Given the description of an element on the screen output the (x, y) to click on. 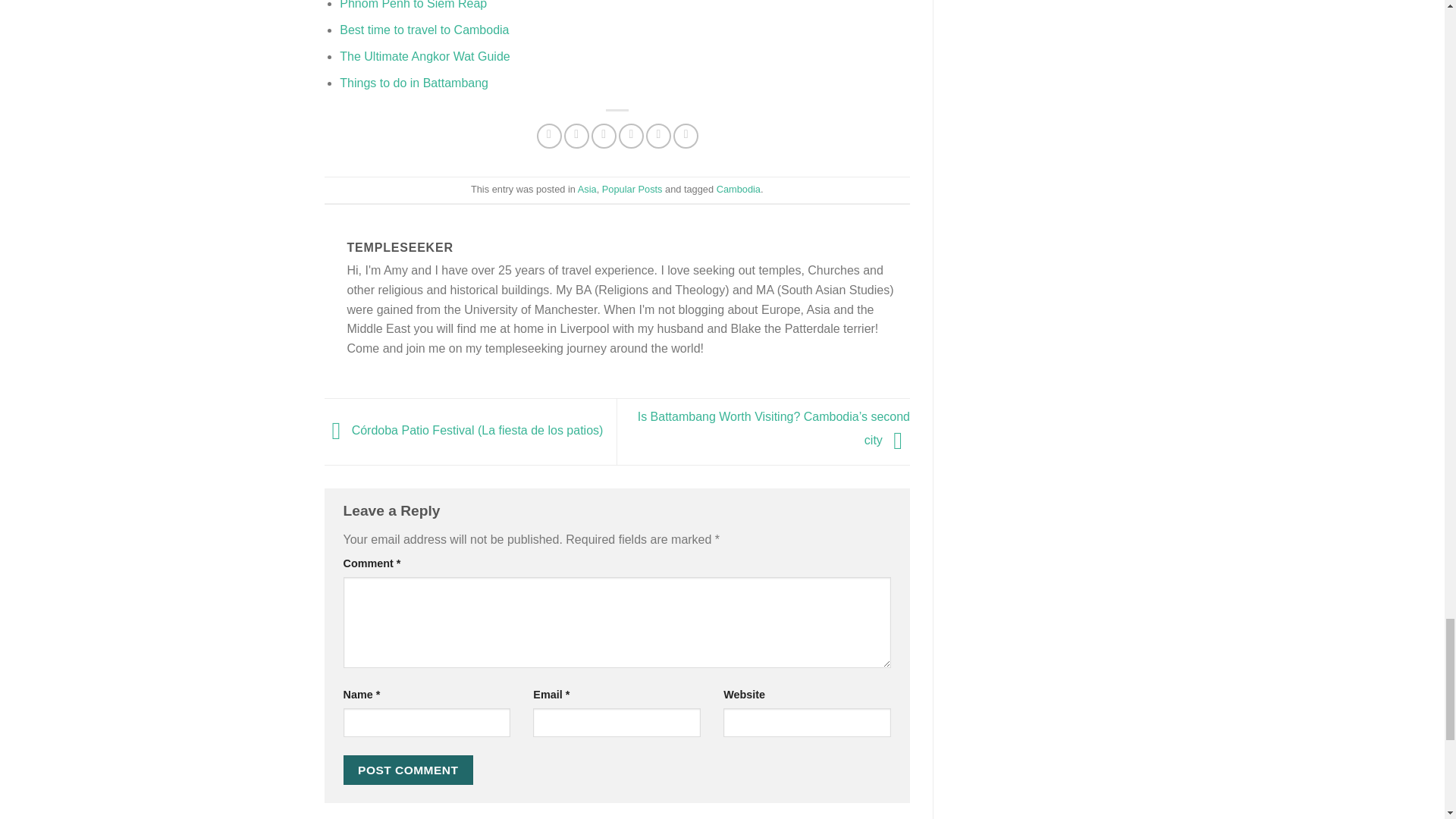
Email to a Friend (603, 135)
Share on Tumblr (685, 135)
Share on Twitter (576, 135)
Share on LinkedIn (658, 135)
Pin on Pinterest (630, 135)
Share on Facebook (549, 135)
Post Comment (407, 769)
